Given the description of an element on the screen output the (x, y) to click on. 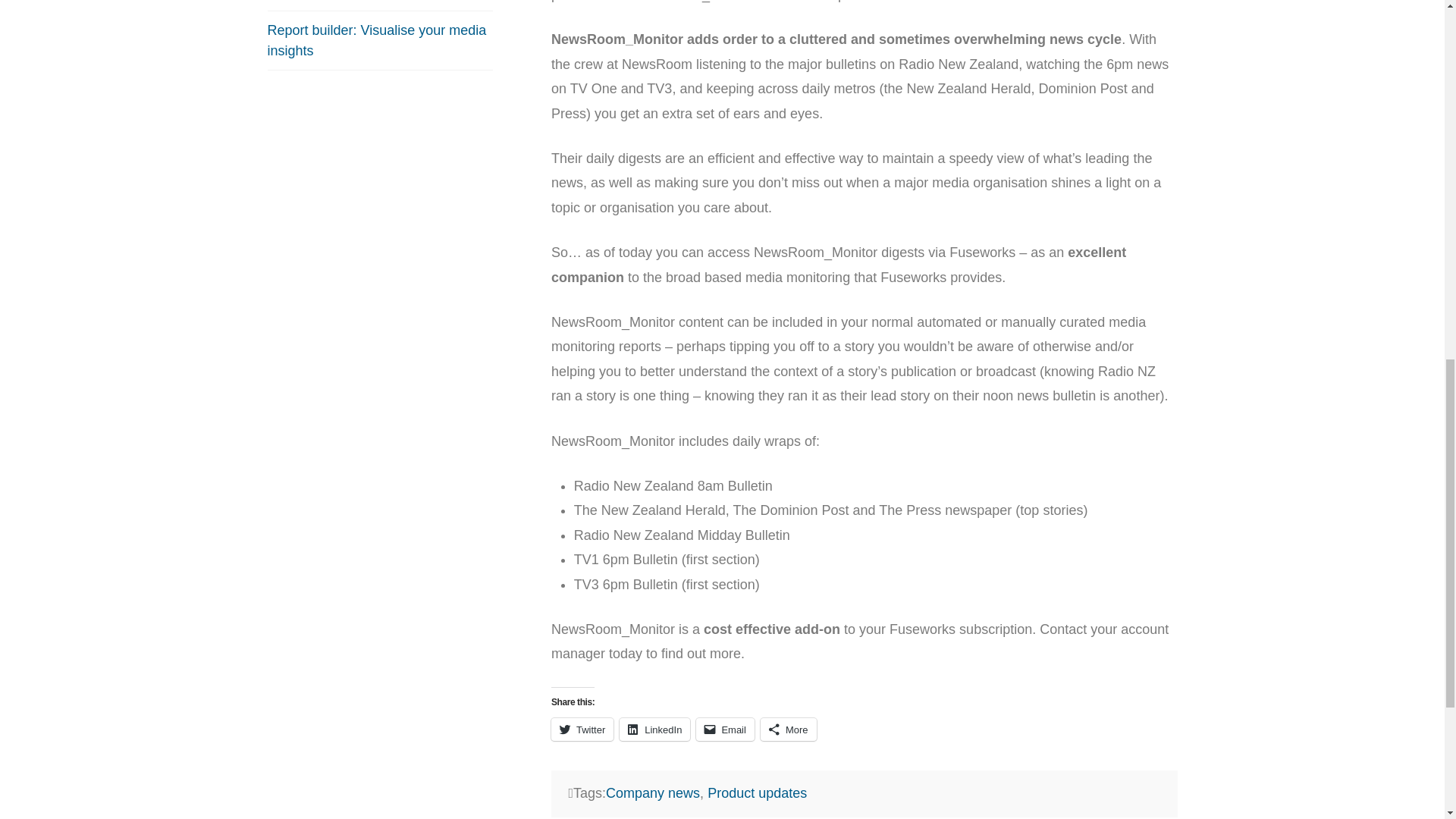
Email (724, 729)
Click to share on Twitter (581, 729)
Product updates (756, 792)
Twitter (581, 729)
LinkedIn (655, 729)
Click to email a link to a friend (724, 729)
Click to share on LinkedIn (655, 729)
More (788, 729)
Company news (652, 792)
